Given the description of an element on the screen output the (x, y) to click on. 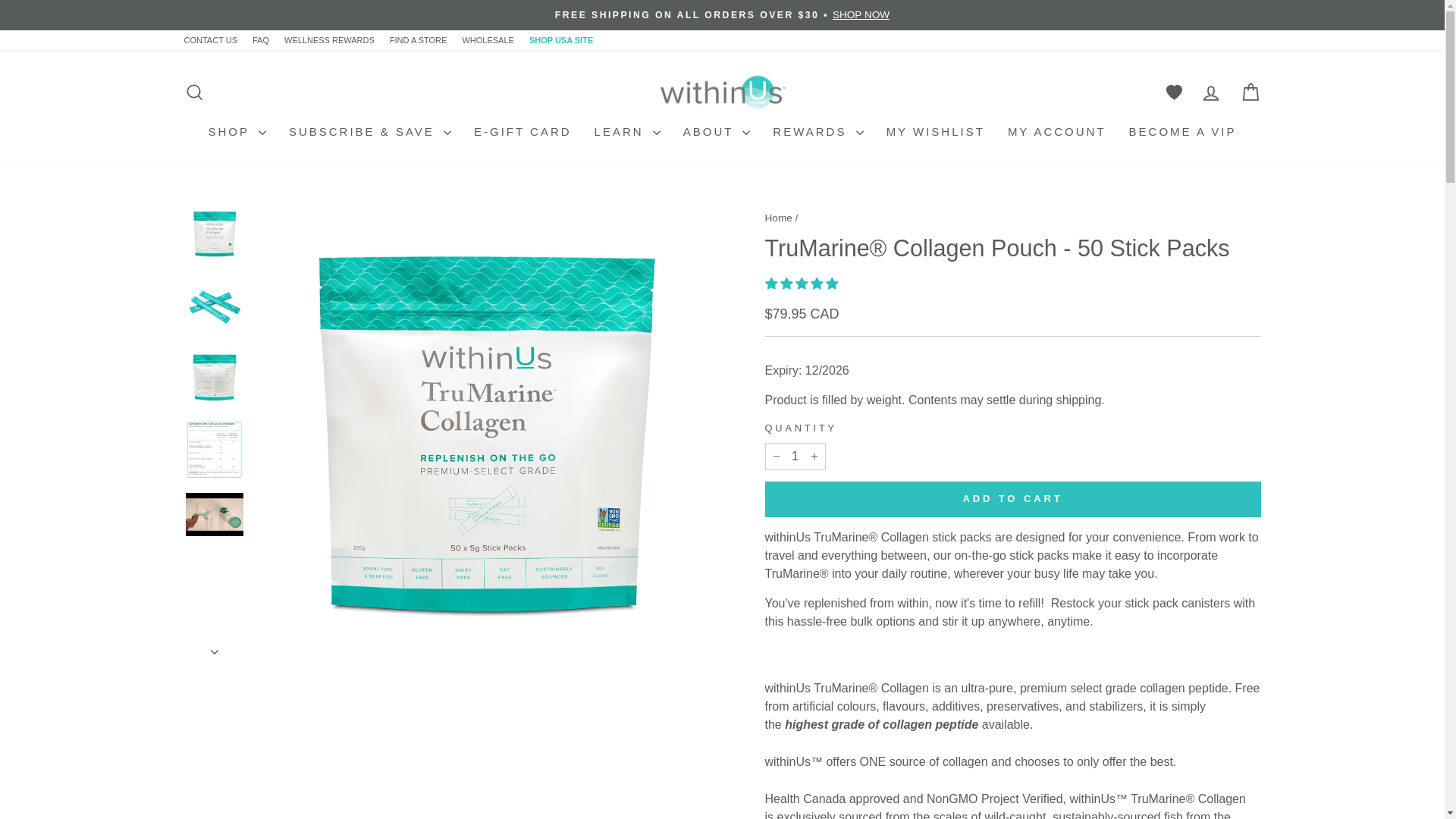
Back to the frontpage (778, 217)
1 (794, 456)
ICON-SEARCH (194, 92)
ACCOUNT (1210, 92)
